Given the description of an element on the screen output the (x, y) to click on. 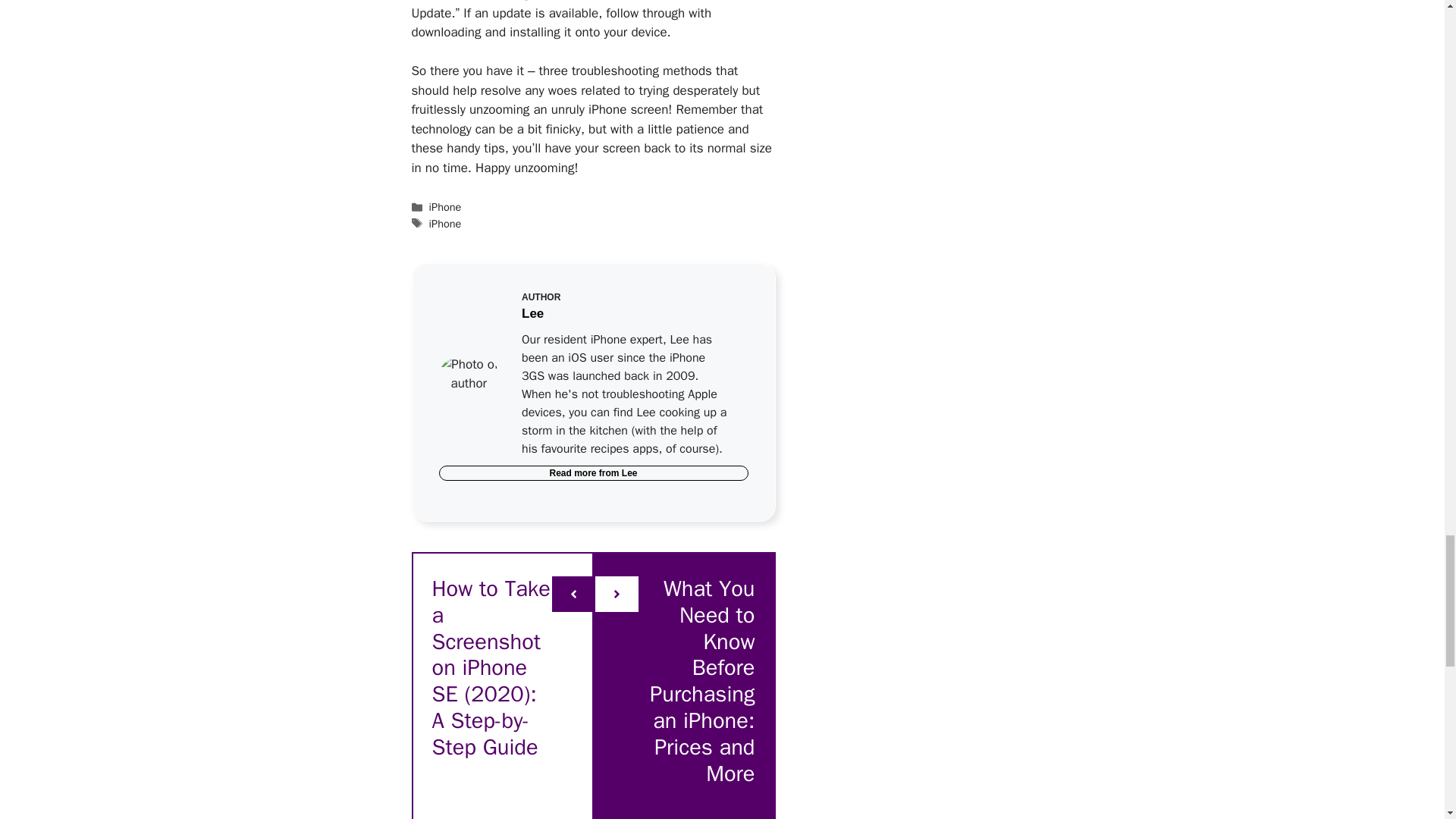
iPhone (445, 206)
iPhone (445, 223)
Lee (532, 313)
Lee (629, 472)
